Given the description of an element on the screen output the (x, y) to click on. 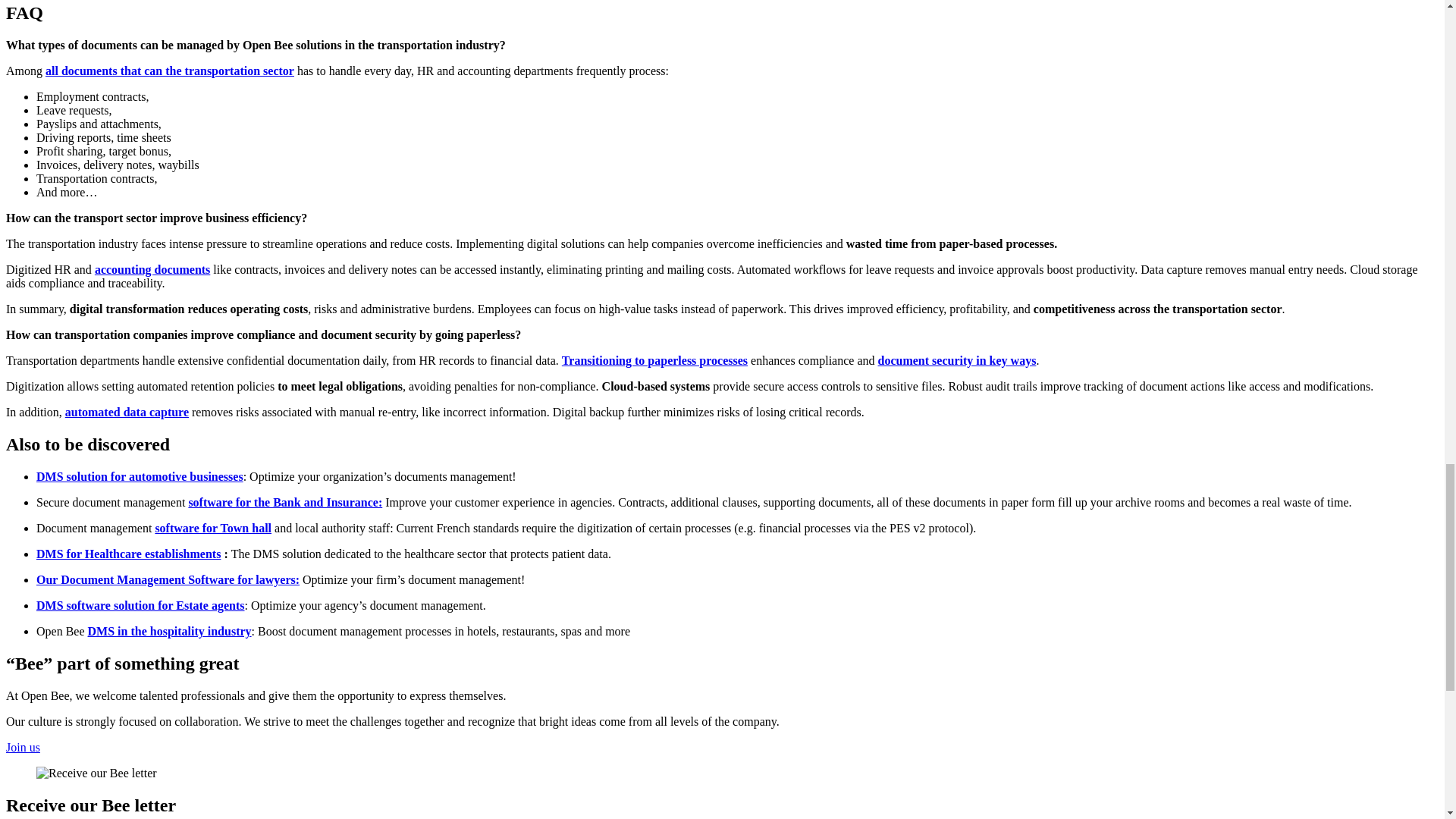
accounting documents (151, 269)
document security in key ways (956, 359)
software for the Bank and Insurance: (284, 502)
all documents that can the transportation sector (169, 70)
Transitioning to paperless processes (655, 359)
automated data capture (127, 411)
software for Town hall (212, 527)
DMS solution for automotive businesses (139, 476)
